Given the description of an element on the screen output the (x, y) to click on. 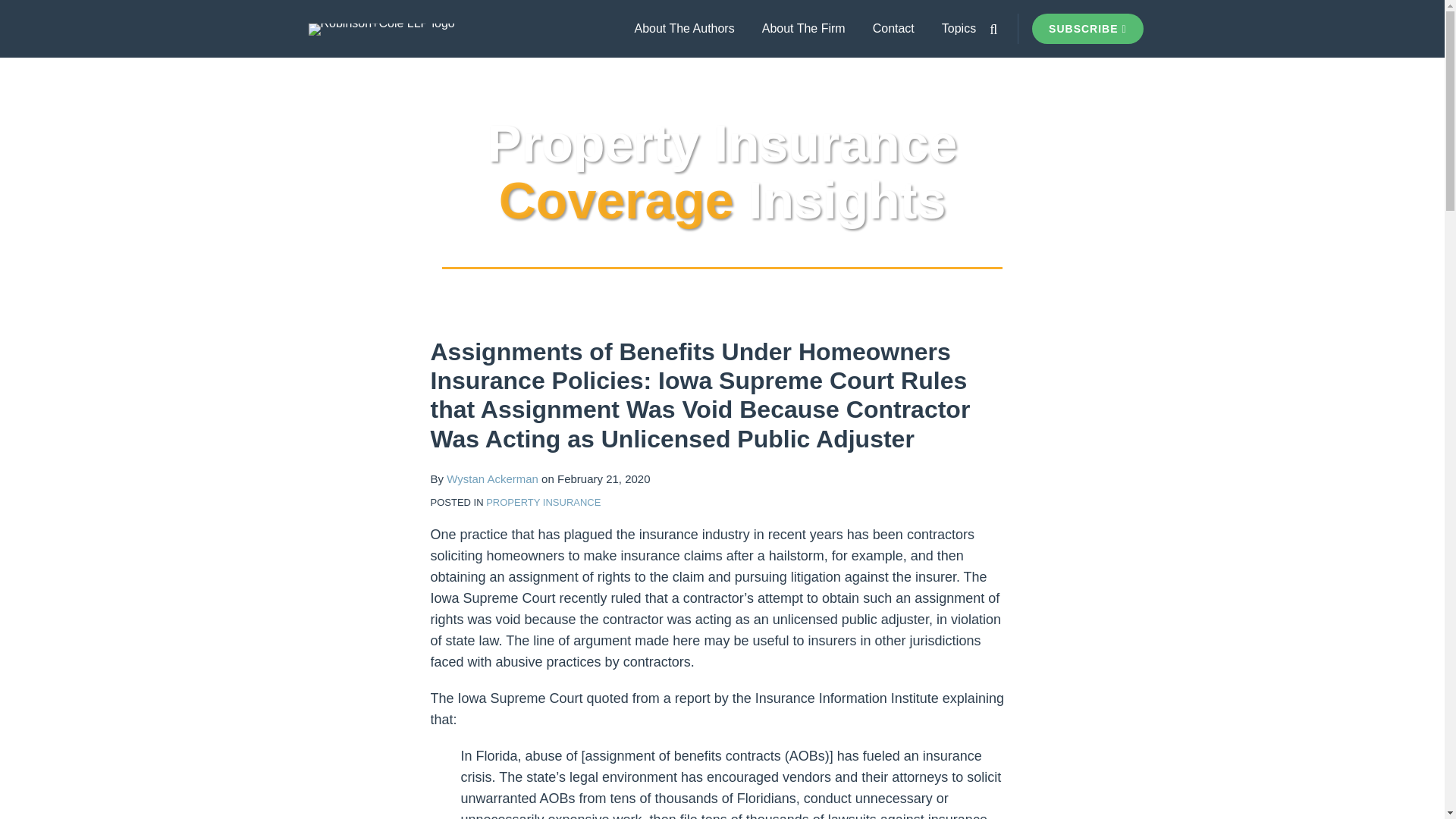
SUBSCRIBE (1087, 28)
Contact (893, 28)
Property Insurance Coverage Insights (722, 171)
Wystan Ackerman (492, 478)
PROPERTY INSURANCE (542, 501)
About The Firm (803, 28)
About The Authors (683, 28)
Topics (958, 28)
